Given the description of an element on the screen output the (x, y) to click on. 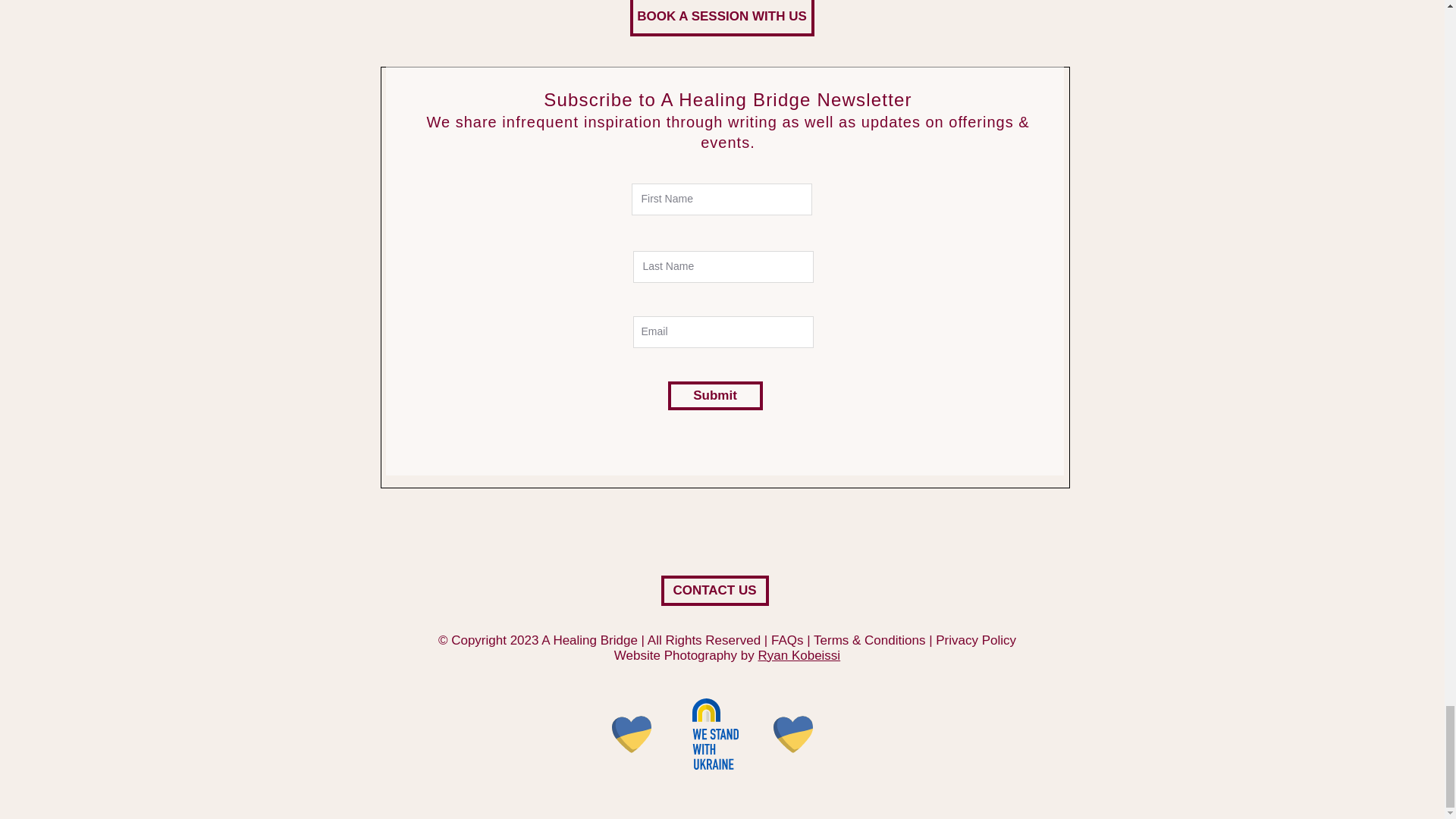
Submit (713, 395)
BOOK A SESSION WITH US (720, 18)
CONTACT US (714, 590)
Ryan Kobeissi (798, 655)
